Given the description of an element on the screen output the (x, y) to click on. 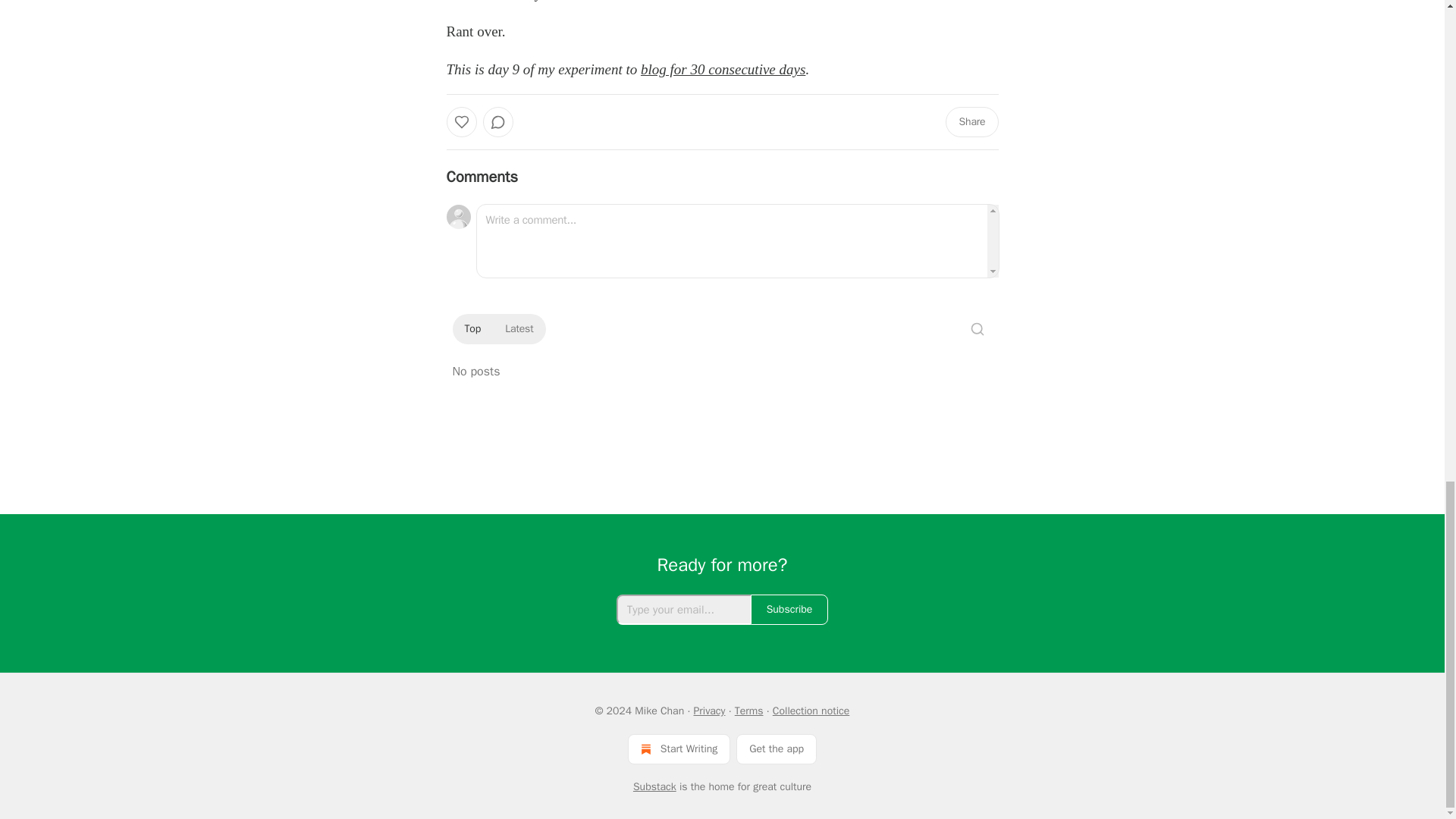
Top (471, 328)
Share (970, 122)
Privacy (709, 710)
Terms (748, 710)
Latest (518, 328)
Subscribe (789, 609)
blog for 30 consecutive days (722, 68)
